Given the description of an element on the screen output the (x, y) to click on. 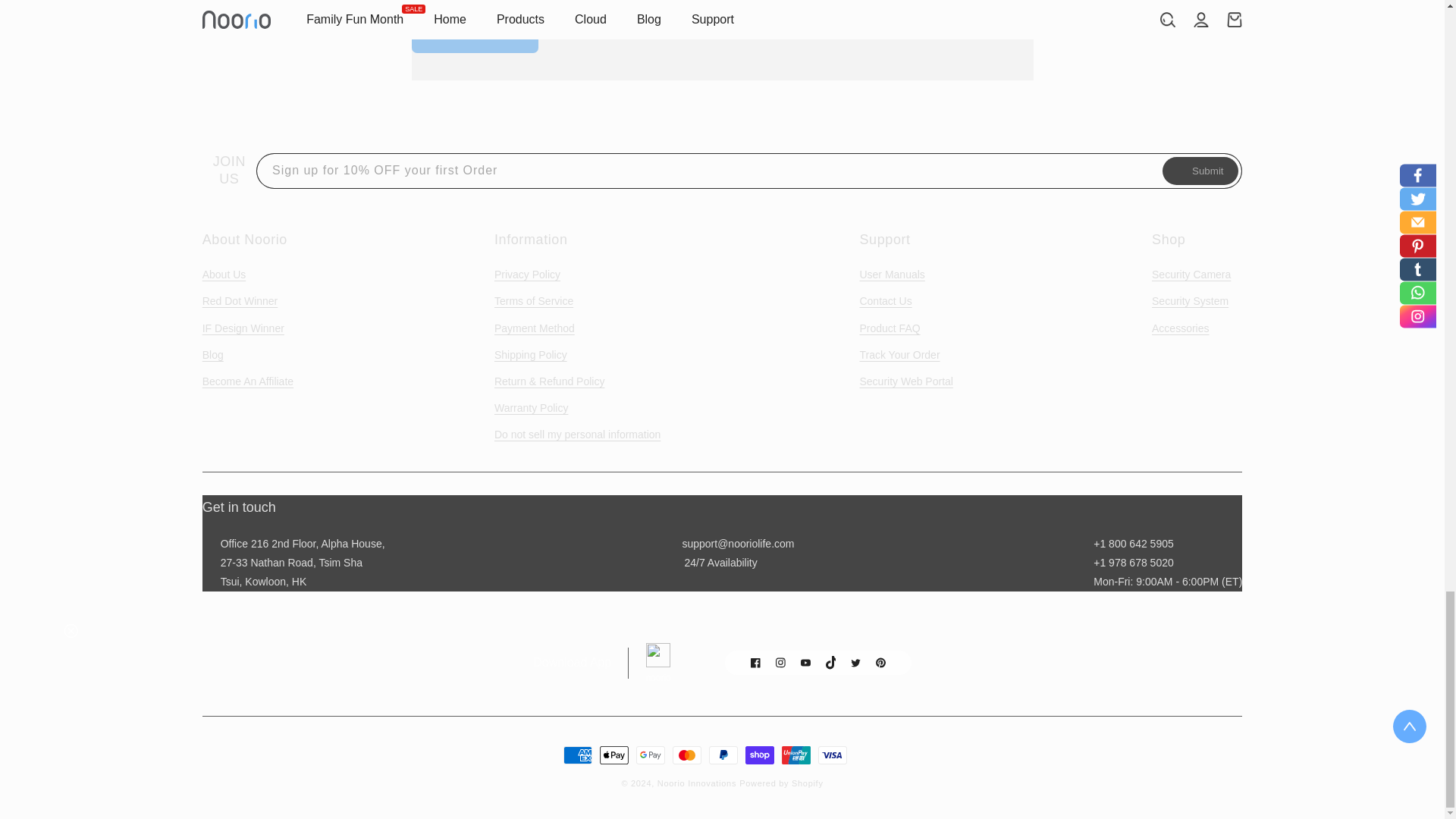
Post comment (474, 35)
